Given the description of an element on the screen output the (x, y) to click on. 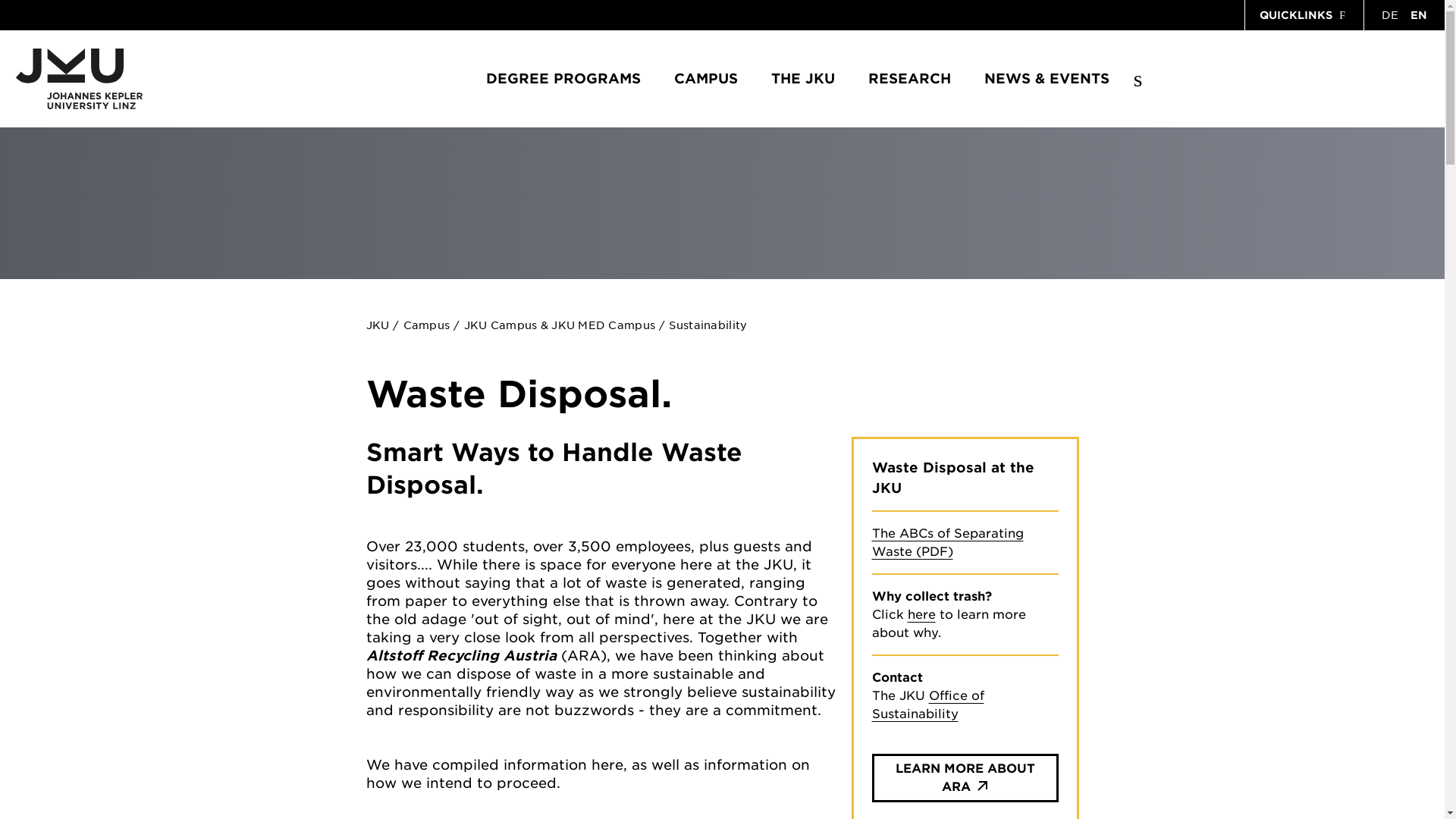
Learn more about ARA (965, 777)
